Given the description of an element on the screen output the (x, y) to click on. 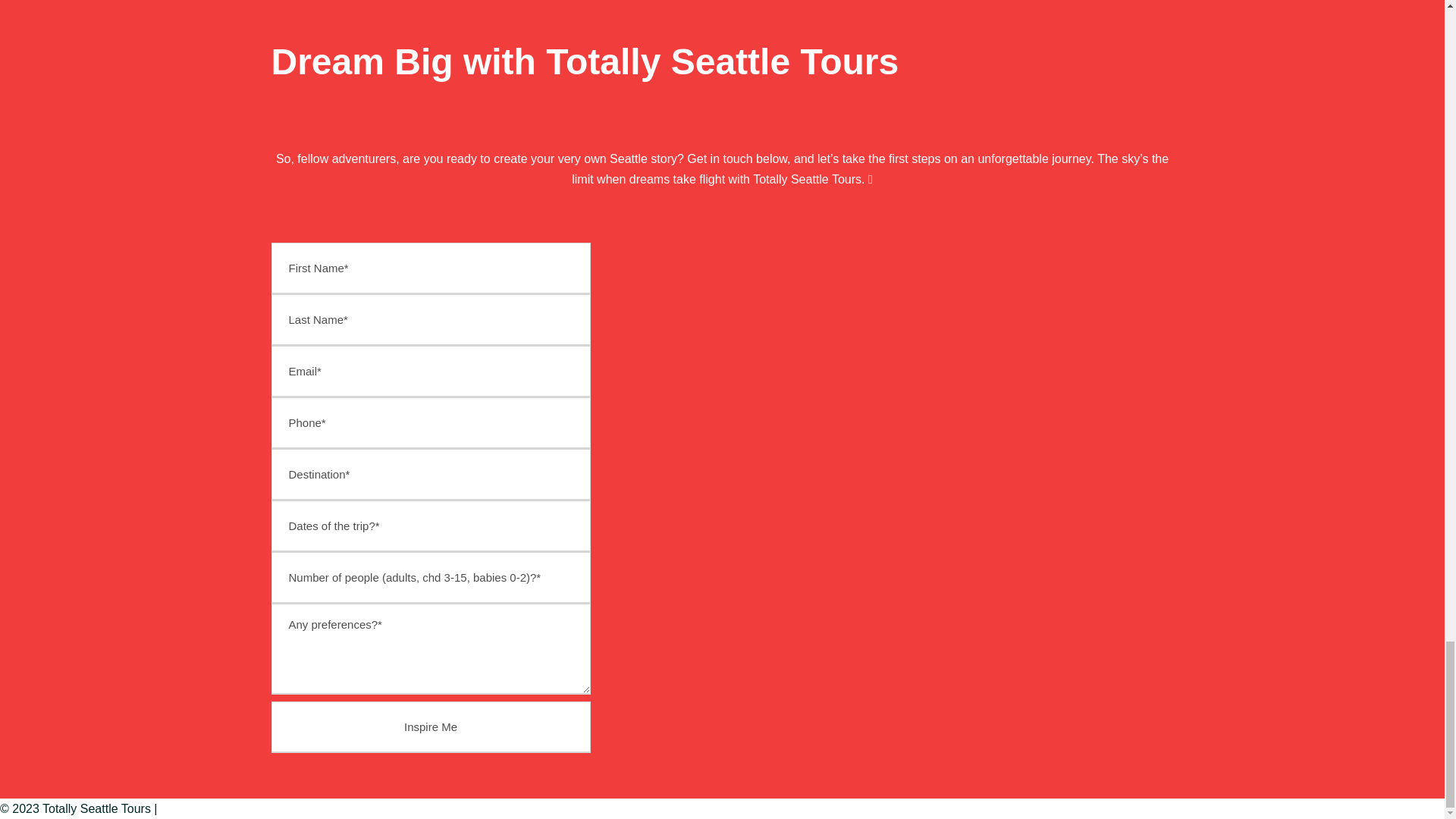
Website by Tourism Marketing Agency (237, 809)
Inspire Me (430, 726)
Inspire Me (430, 726)
